Given the description of an element on the screen output the (x, y) to click on. 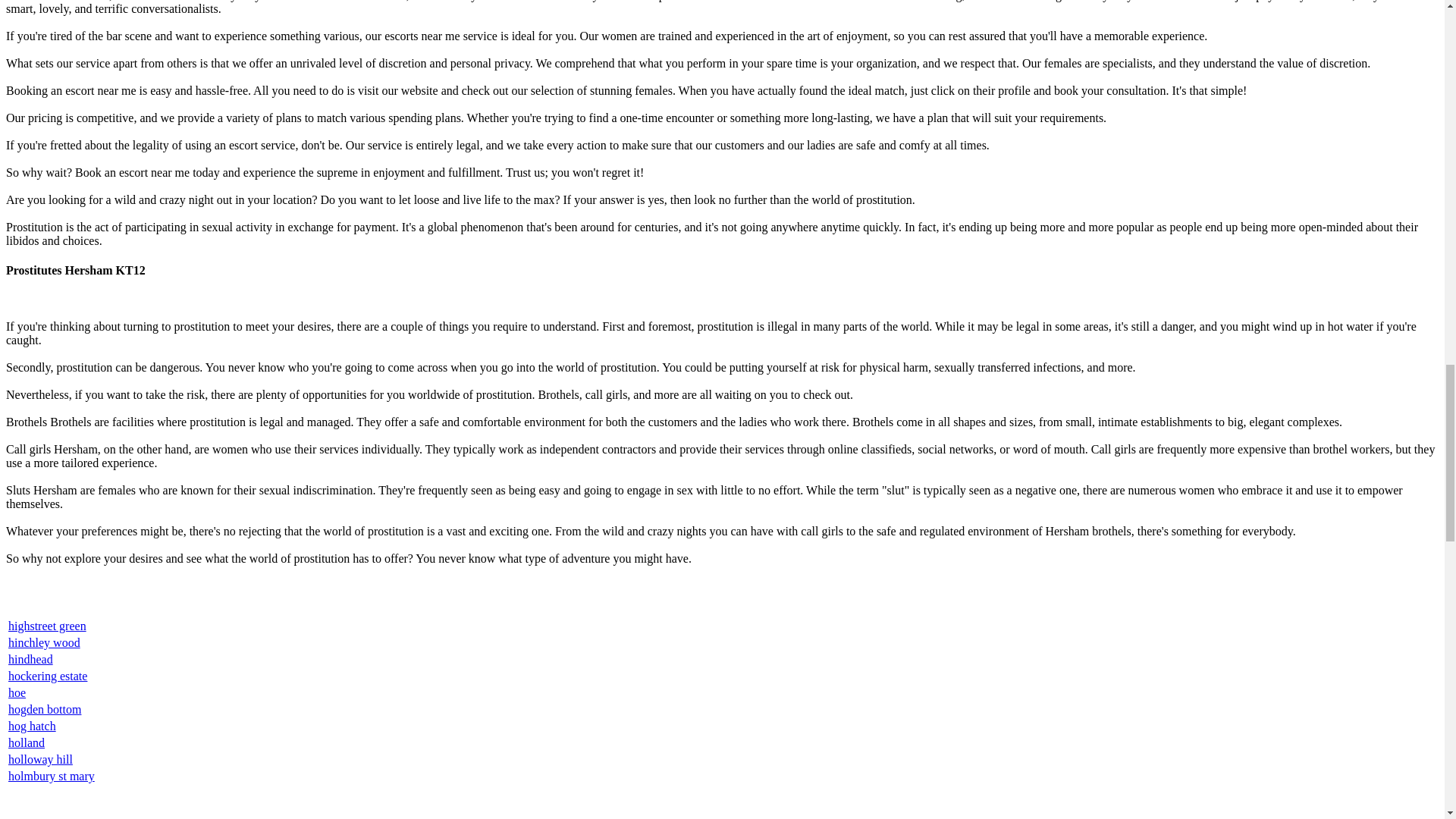
hindhead (30, 658)
holland (26, 742)
hockering estate (47, 675)
hoe (17, 692)
hog hatch (32, 725)
hinchley wood (44, 642)
holloway hill (40, 758)
hogden bottom (44, 708)
holmbury st mary (51, 775)
highstreet green (46, 625)
